Given the description of an element on the screen output the (x, y) to click on. 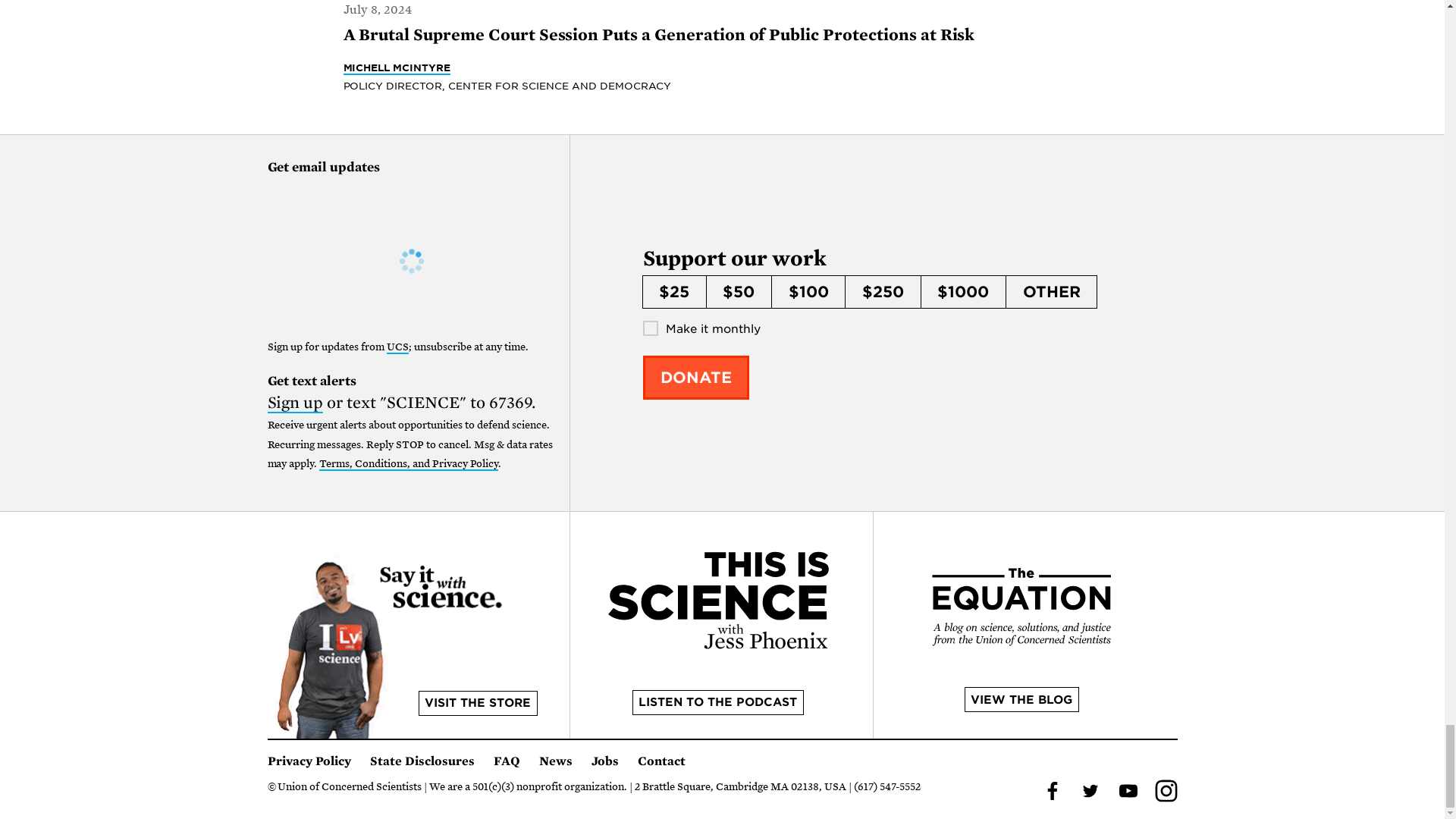
UCS (398, 347)
Donate Online (696, 377)
MICHELL MCINTYRE (395, 68)
